Given the description of an element on the screen output the (x, y) to click on. 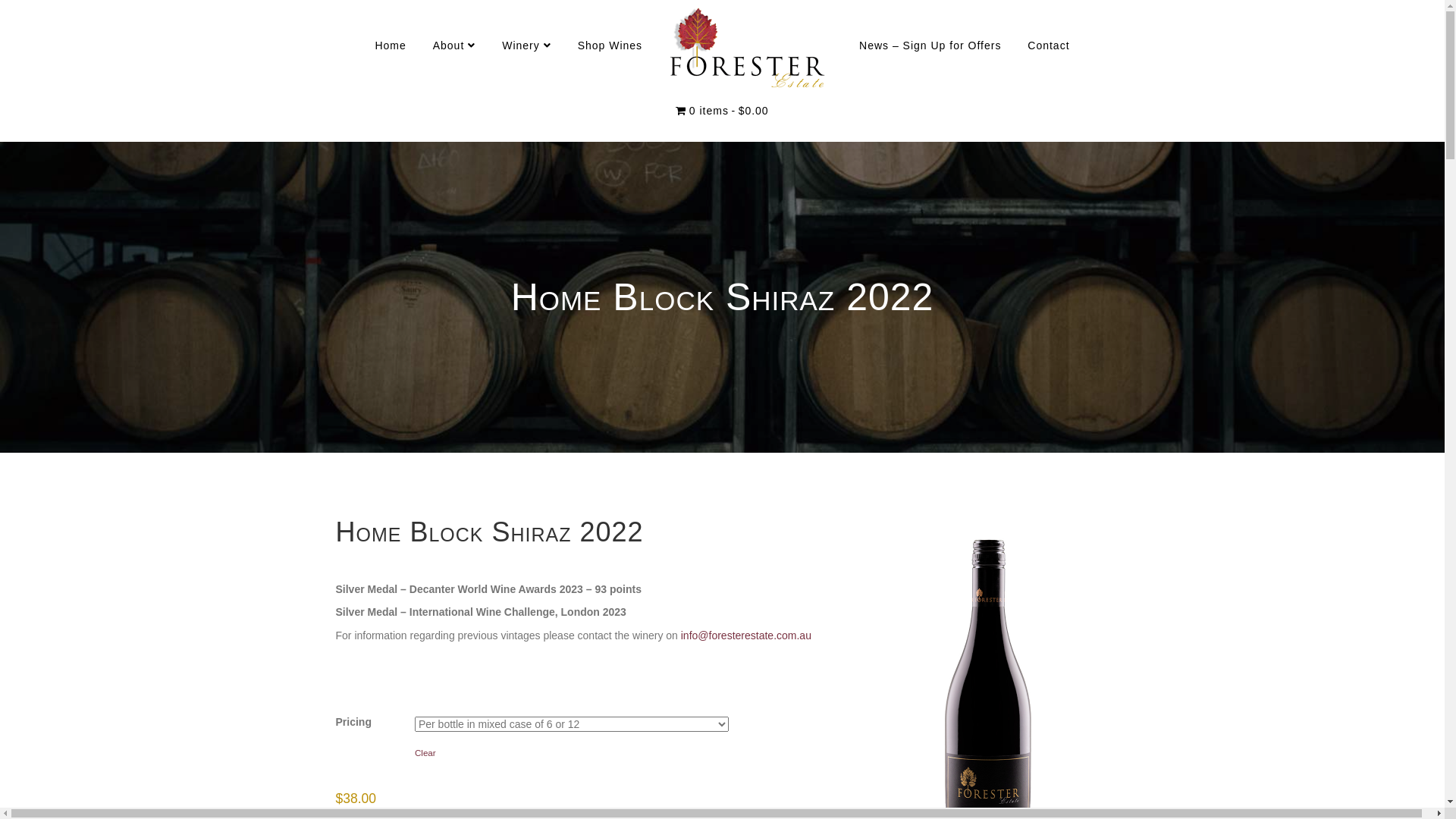
Shop Wines Element type: text (609, 46)
Winery Element type: text (526, 46)
About Element type: text (454, 46)
info@foresterestate.com.au Element type: text (745, 635)
Home Element type: text (390, 46)
0 items$0.00 Element type: text (721, 111)
Clear Element type: text (623, 748)
Contact Element type: text (1048, 46)
